Given the description of an element on the screen output the (x, y) to click on. 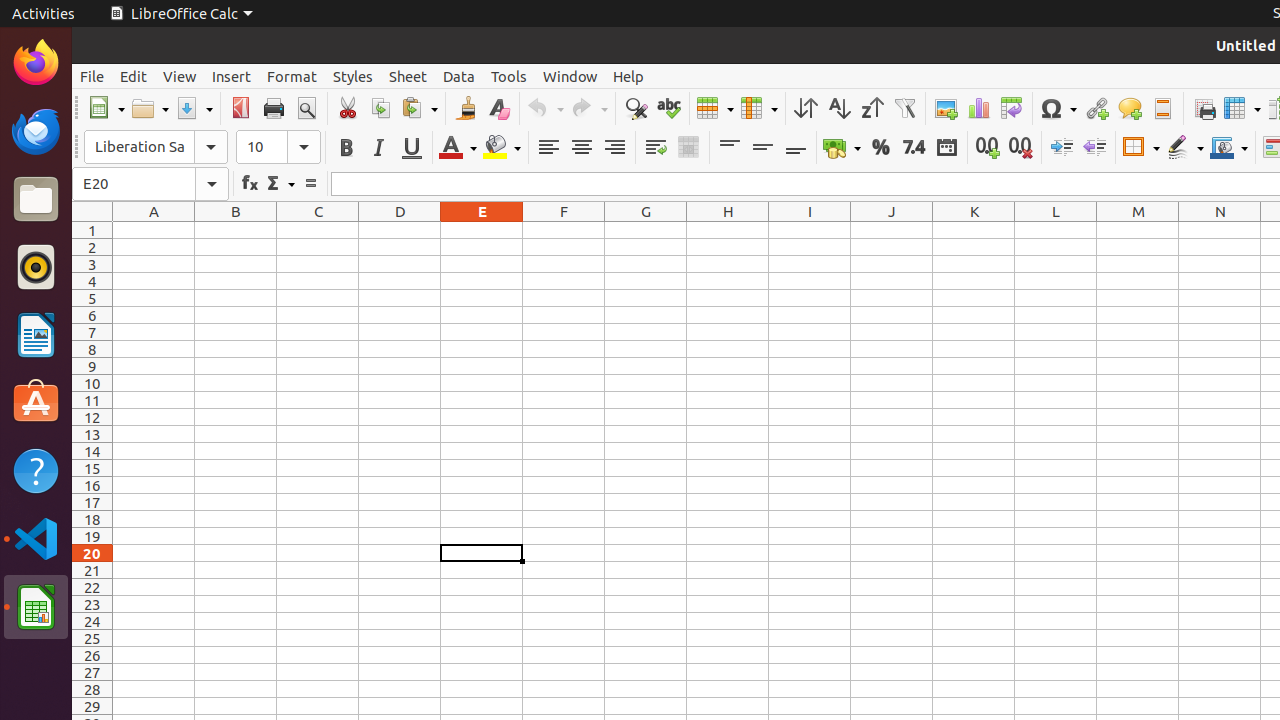
Name Box Element type: combo-box (150, 184)
Center Vertically Element type: push-button (762, 147)
Formula Element type: push-button (310, 183)
Print Preview Element type: toggle-button (306, 108)
Align Center Element type: push-button (581, 147)
